Given the description of an element on the screen output the (x, y) to click on. 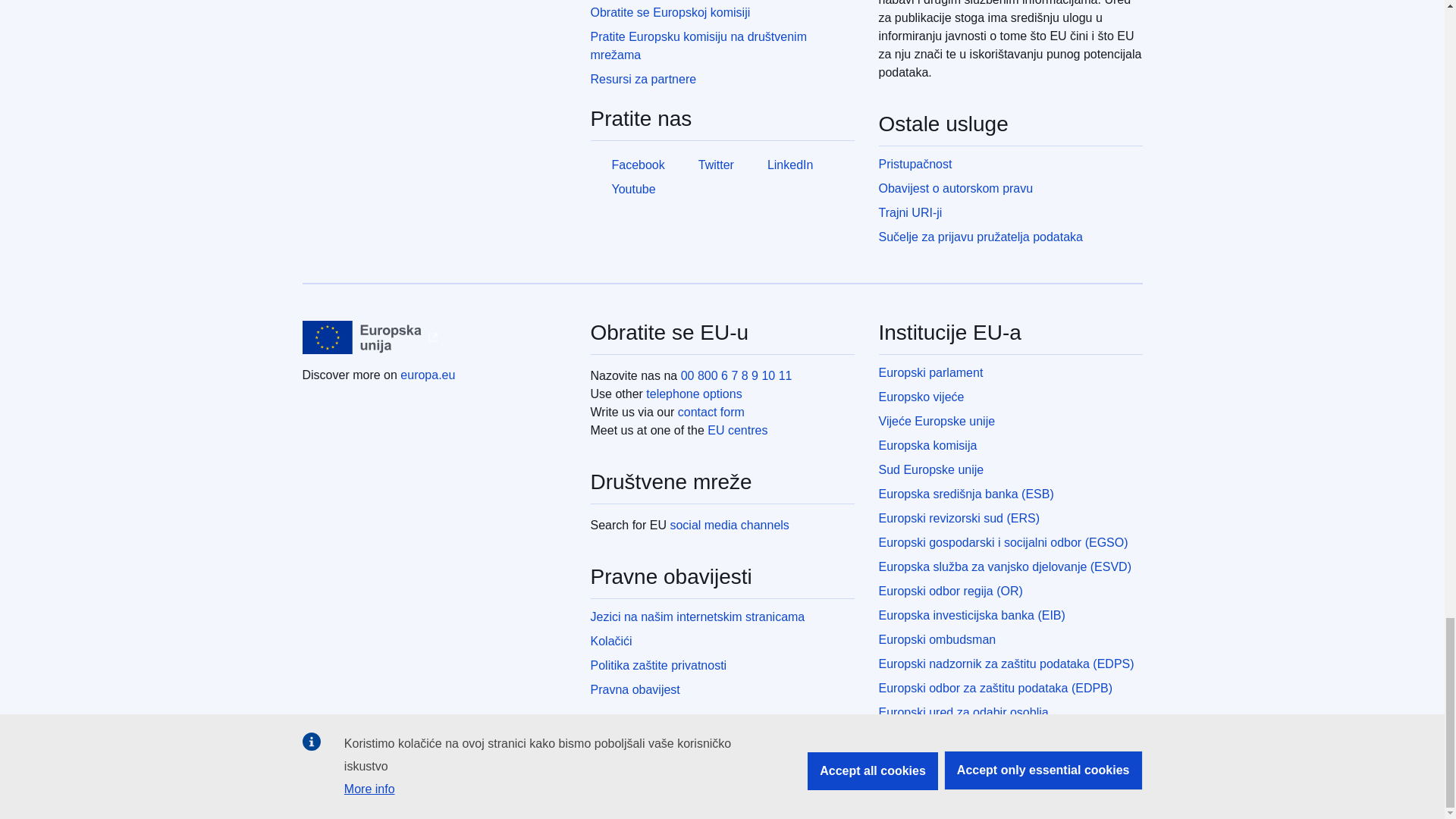
European Union (361, 337)
